Given the description of an element on the screen output the (x, y) to click on. 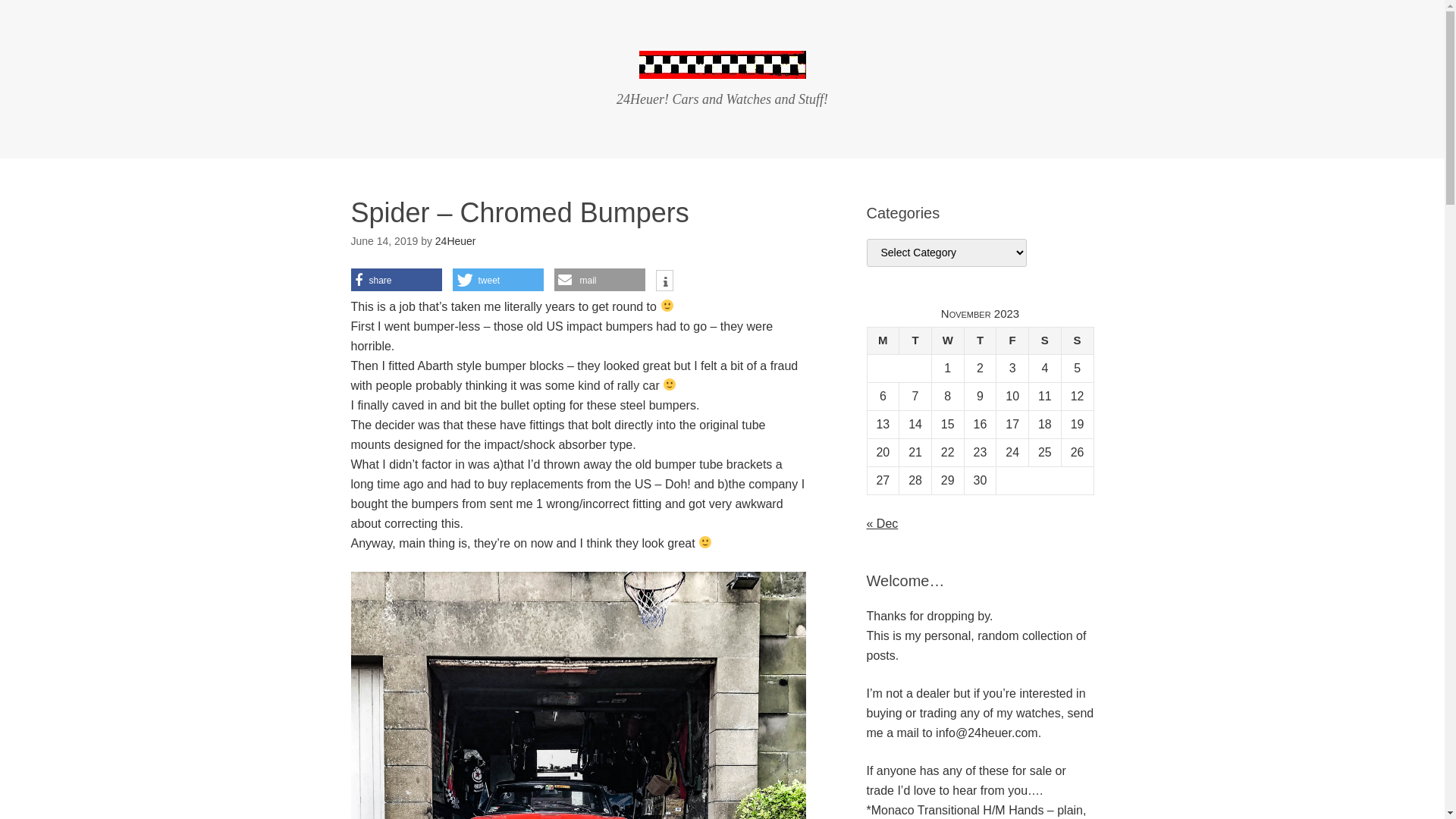
tweet Element type: text (496, 279)
mail Element type: text (598, 279)
24Heuer Element type: hover (721, 66)
Info Element type: text (664, 281)
Search Element type: text (0, 0)
share Element type: text (395, 279)
24Heuer Element type: text (455, 241)
